Given the description of an element on the screen output the (x, y) to click on. 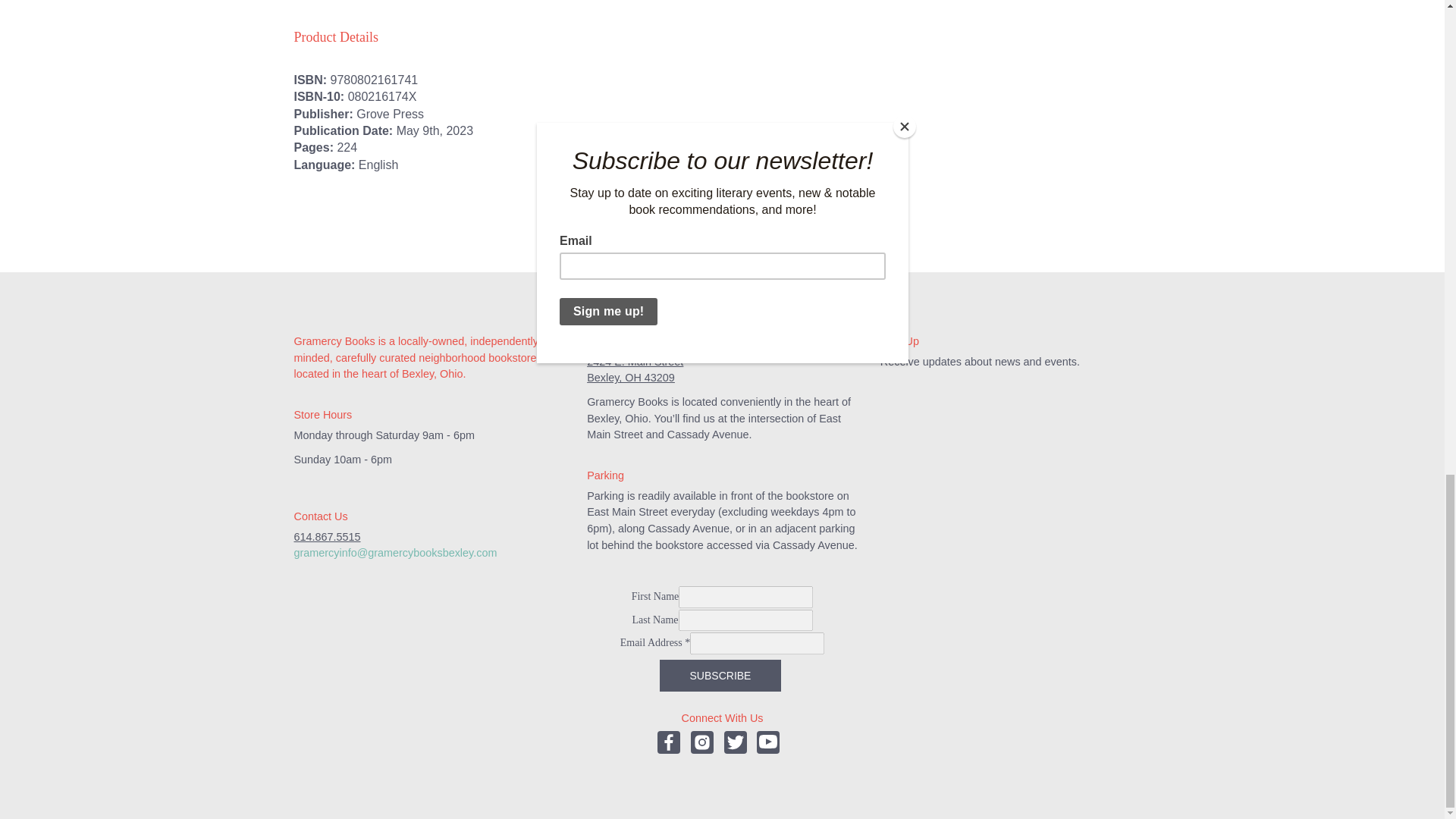
614.867.5515 (327, 536)
Subscribe (720, 675)
